Given the description of an element on the screen output the (x, y) to click on. 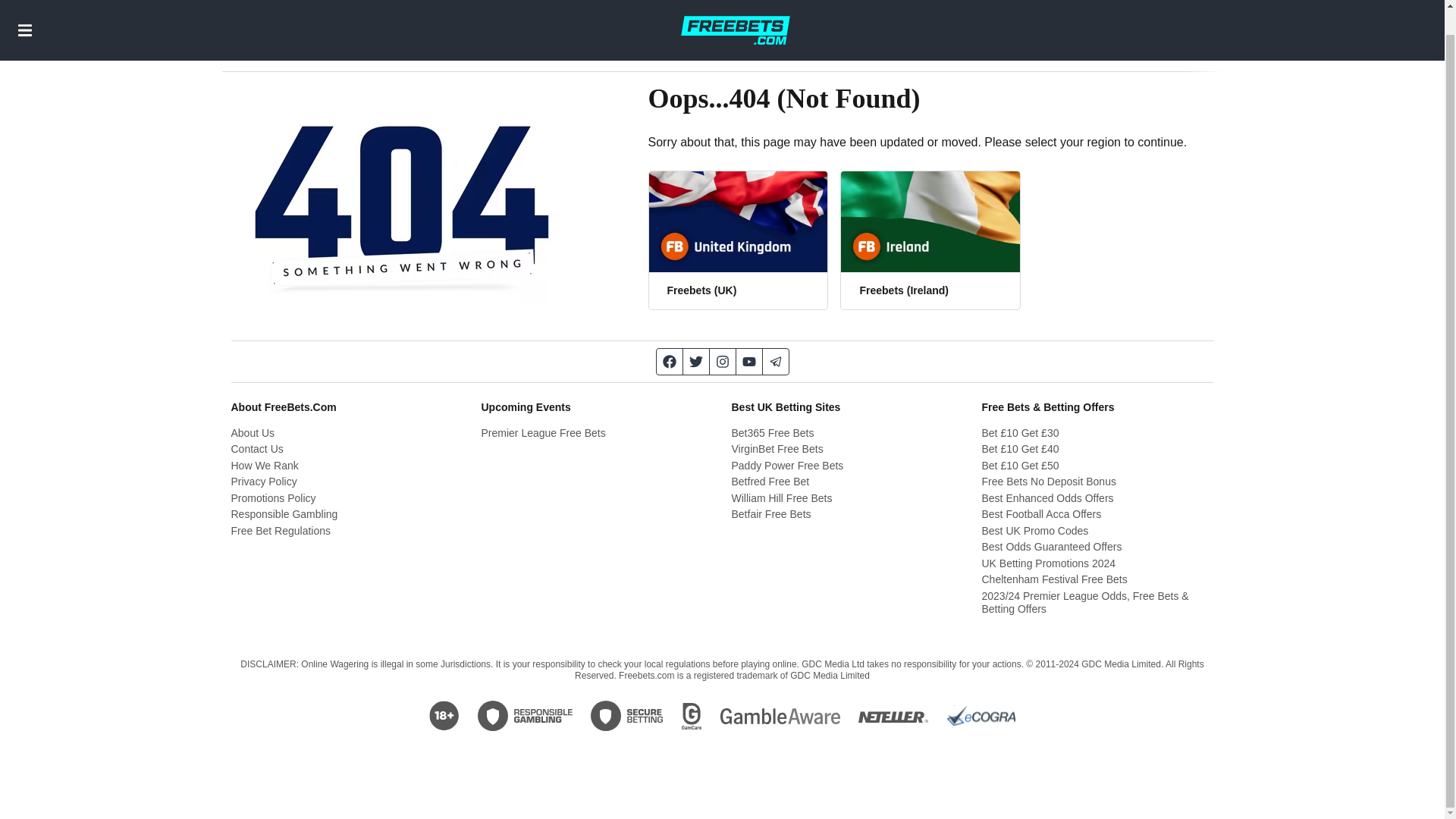
Youtube page (748, 361)
Twitter feed (695, 361)
FreeBets Logo (735, 16)
Instagram page (723, 361)
Telegram (775, 361)
Facebook page (669, 361)
